Given the description of an element on the screen output the (x, y) to click on. 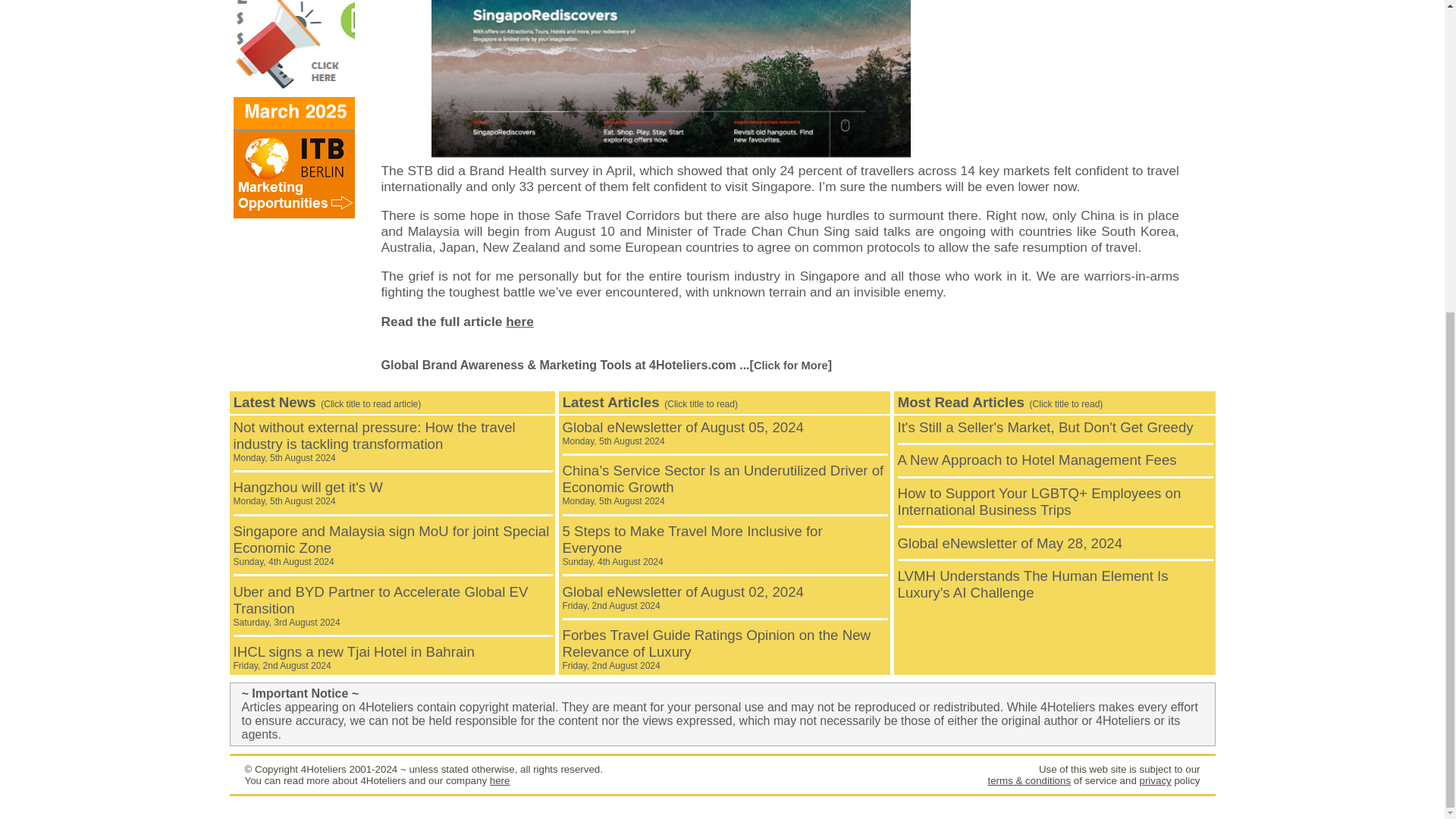
privacy (307, 492)
Read the full article here (1154, 780)
A New Approach to Hotel Management Fees (456, 321)
Click to read article (1037, 459)
It's Still a Seller's Market, But Don't Get Greedy (682, 433)
Click to read article (1045, 426)
here (682, 597)
Click to read article (500, 780)
